Given the description of an element on the screen output the (x, y) to click on. 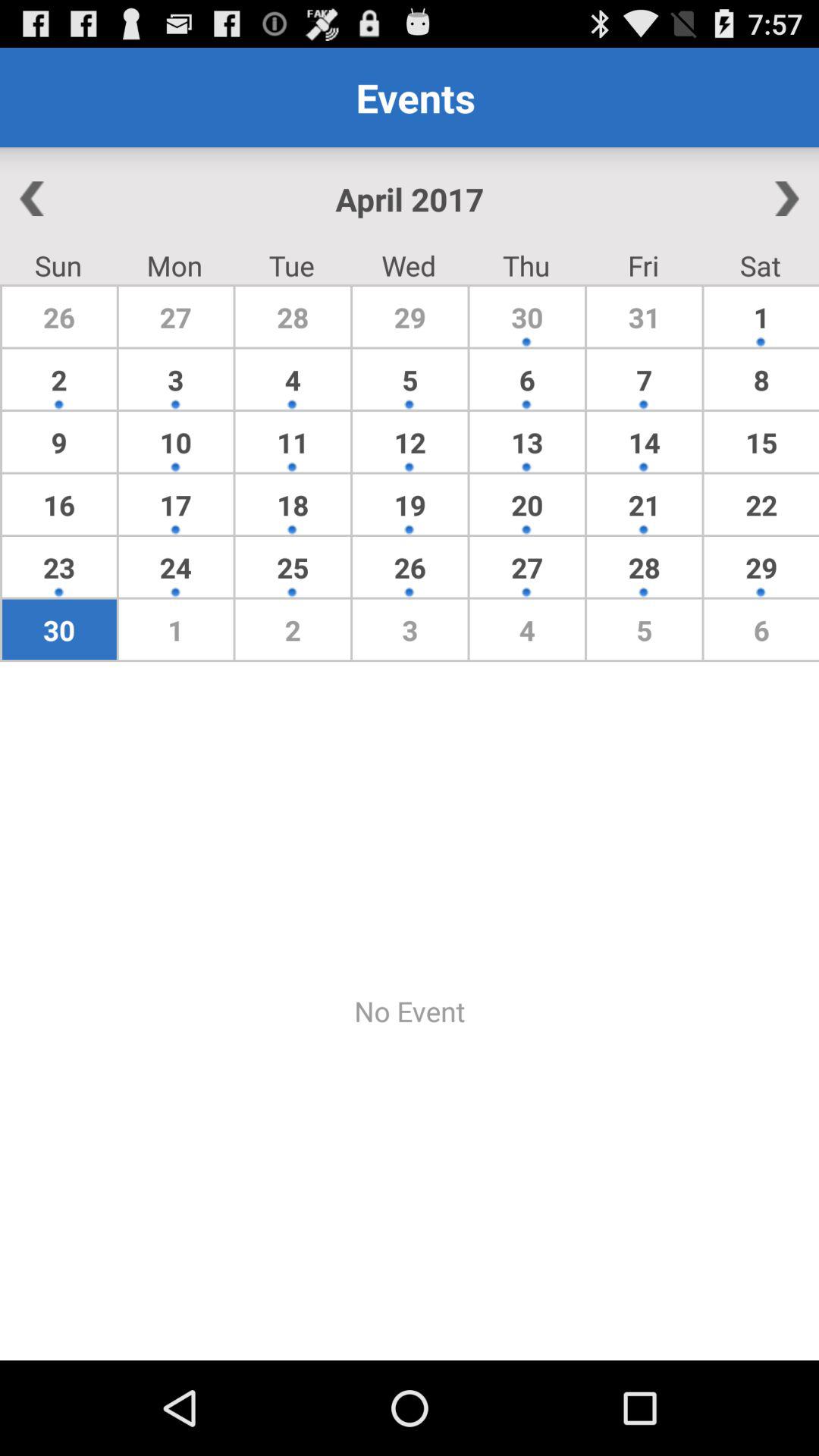
open icon to the left of 10 (59, 504)
